Given the description of an element on the screen output the (x, y) to click on. 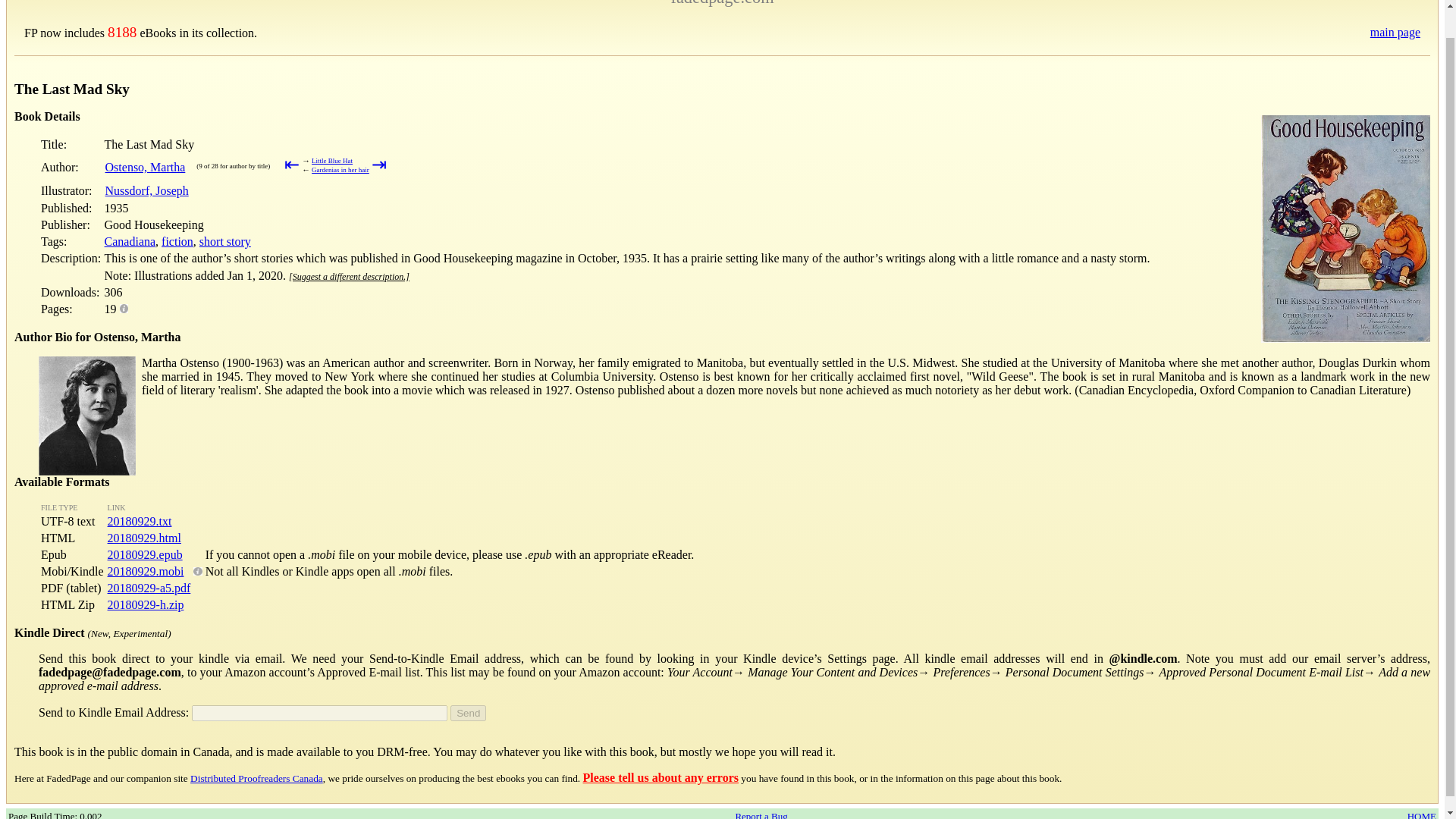
20180929-a5.pdf (148, 587)
fiction (177, 241)
Send (467, 713)
fadedpage.com (721, 3)
main page (1395, 31)
20180929.mobi (145, 571)
Send (467, 713)
Canadiana (129, 241)
20180929.html (143, 537)
20180929-h.zip (145, 604)
Little Blue Hat (331, 160)
Nussdorf, Joseph (146, 190)
Distributed Proofreaders Canada (256, 778)
Gardenias in her hair (340, 169)
